Given the description of an element on the screen output the (x, y) to click on. 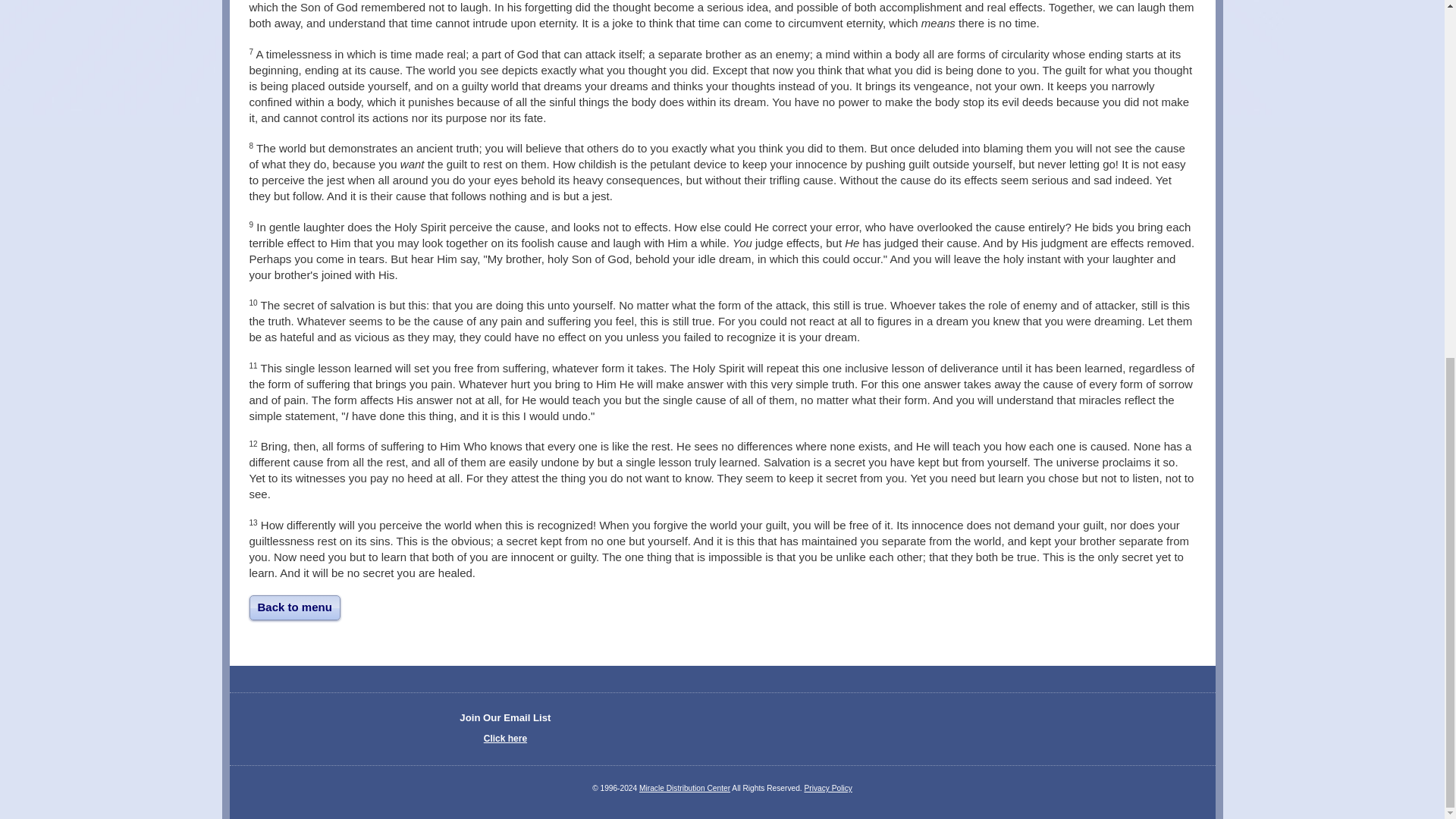
Miracle Distribution Center (684, 787)
Back to menu (293, 607)
